Given the description of an element on the screen output the (x, y) to click on. 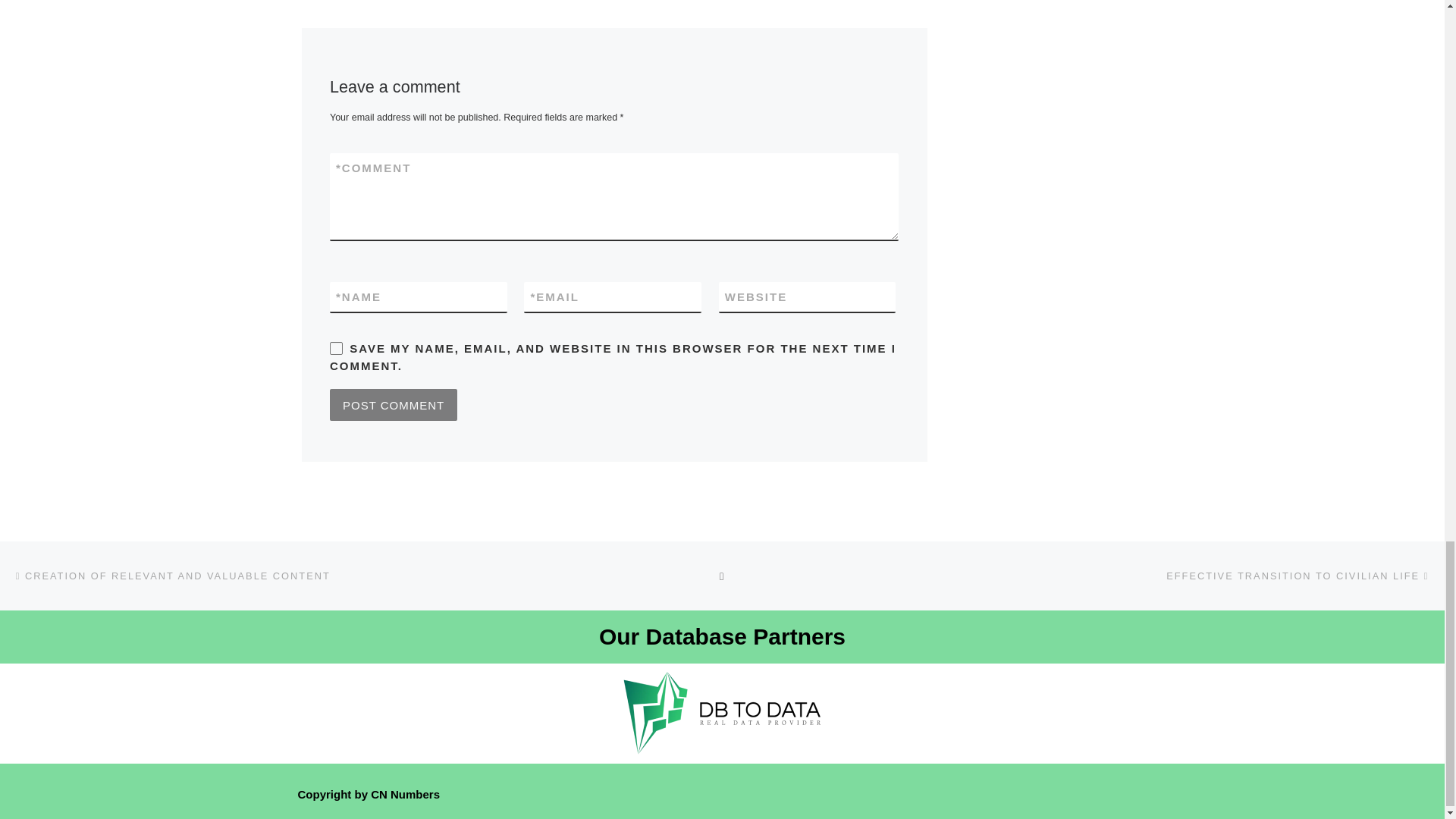
yes (336, 348)
Post Comment (393, 404)
